Given the description of an element on the screen output the (x, y) to click on. 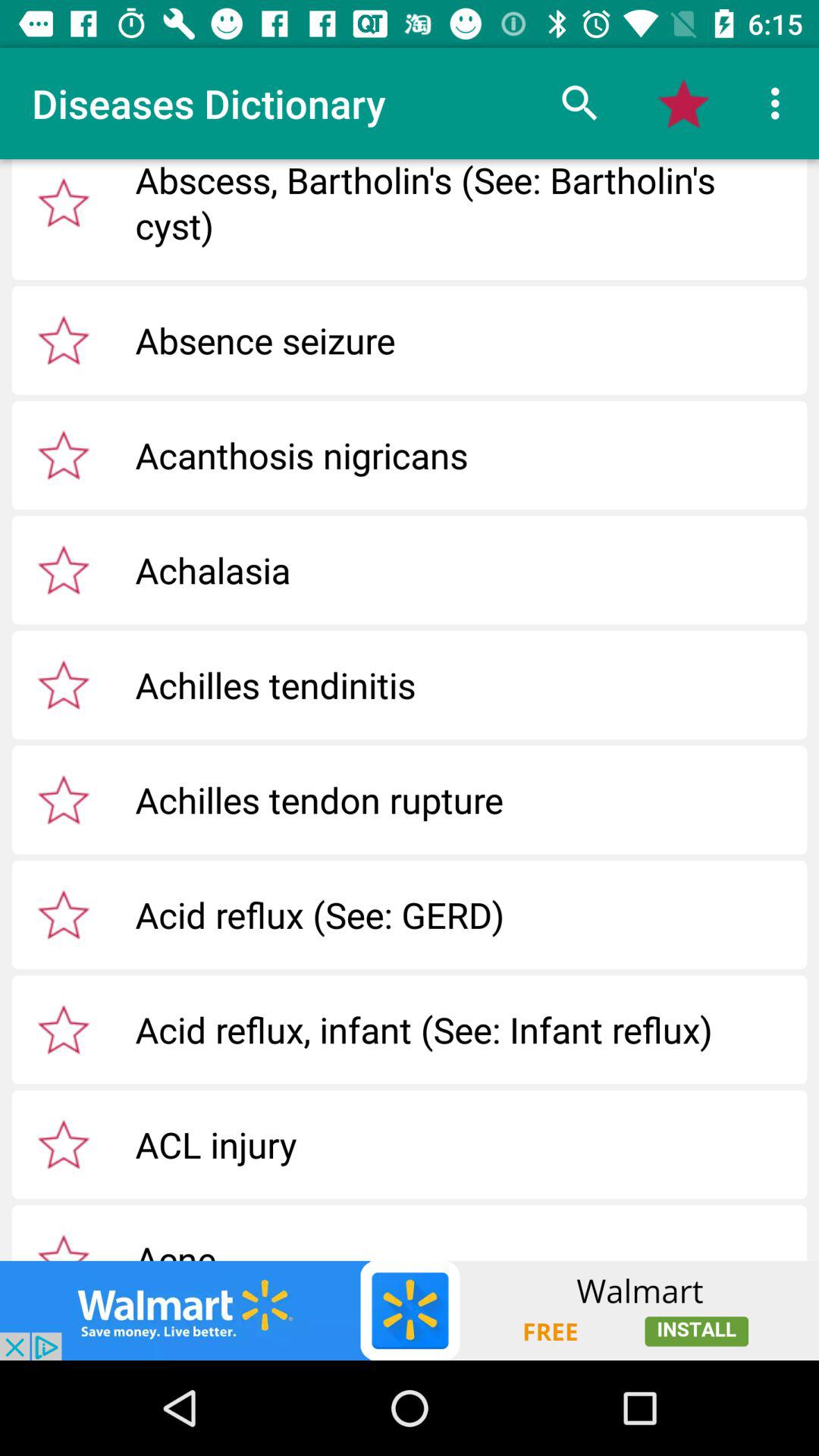
set as important (63, 684)
